Given the description of an element on the screen output the (x, y) to click on. 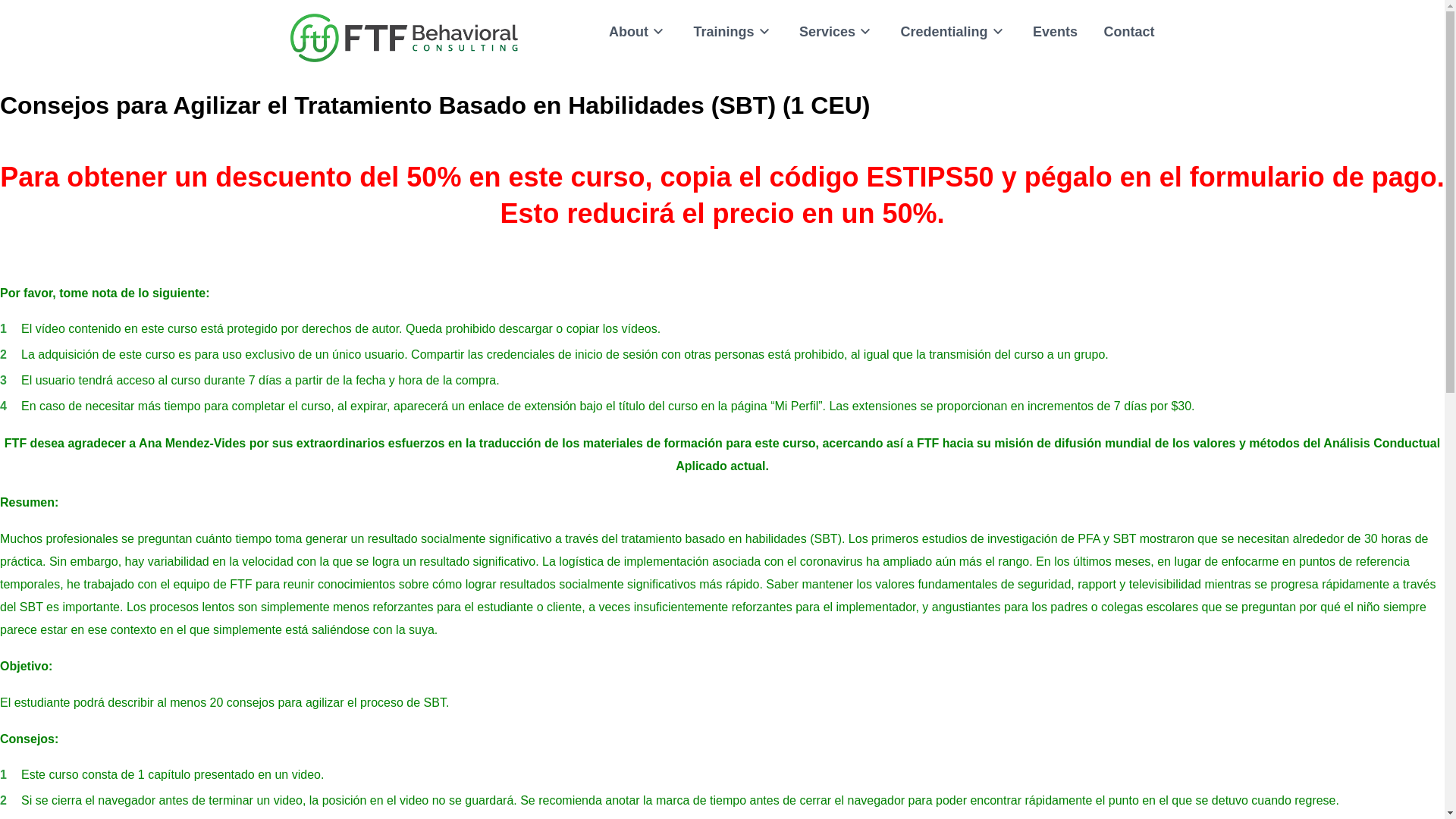
Events (1054, 31)
Contact (1128, 31)
About (637, 31)
Credentialing (954, 31)
Services (837, 31)
Trainings (733, 31)
